Given the description of an element on the screen output the (x, y) to click on. 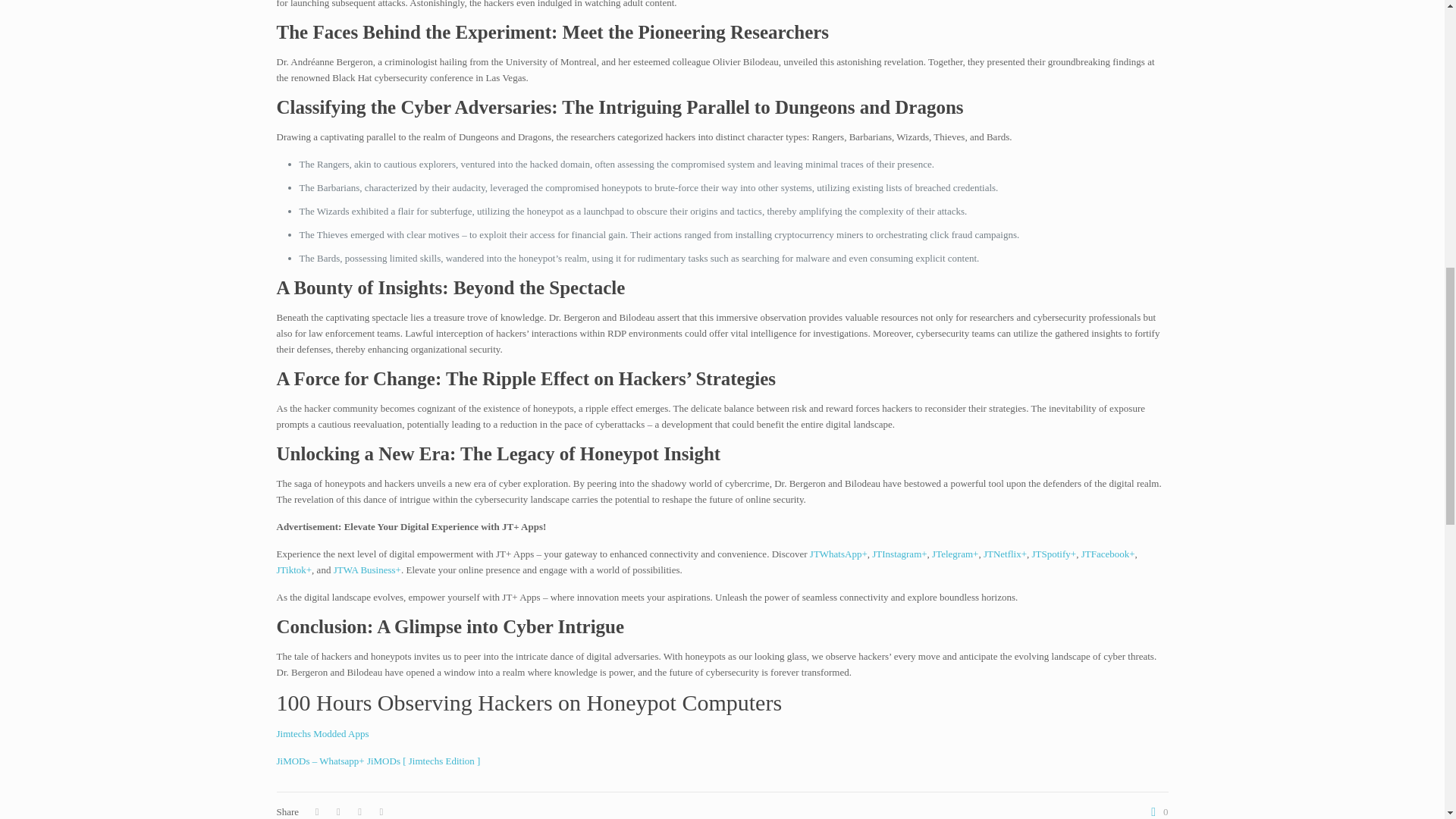
0 (1156, 811)
Jimtechs Modded Apps (322, 733)
